Given the description of an element on the screen output the (x, y) to click on. 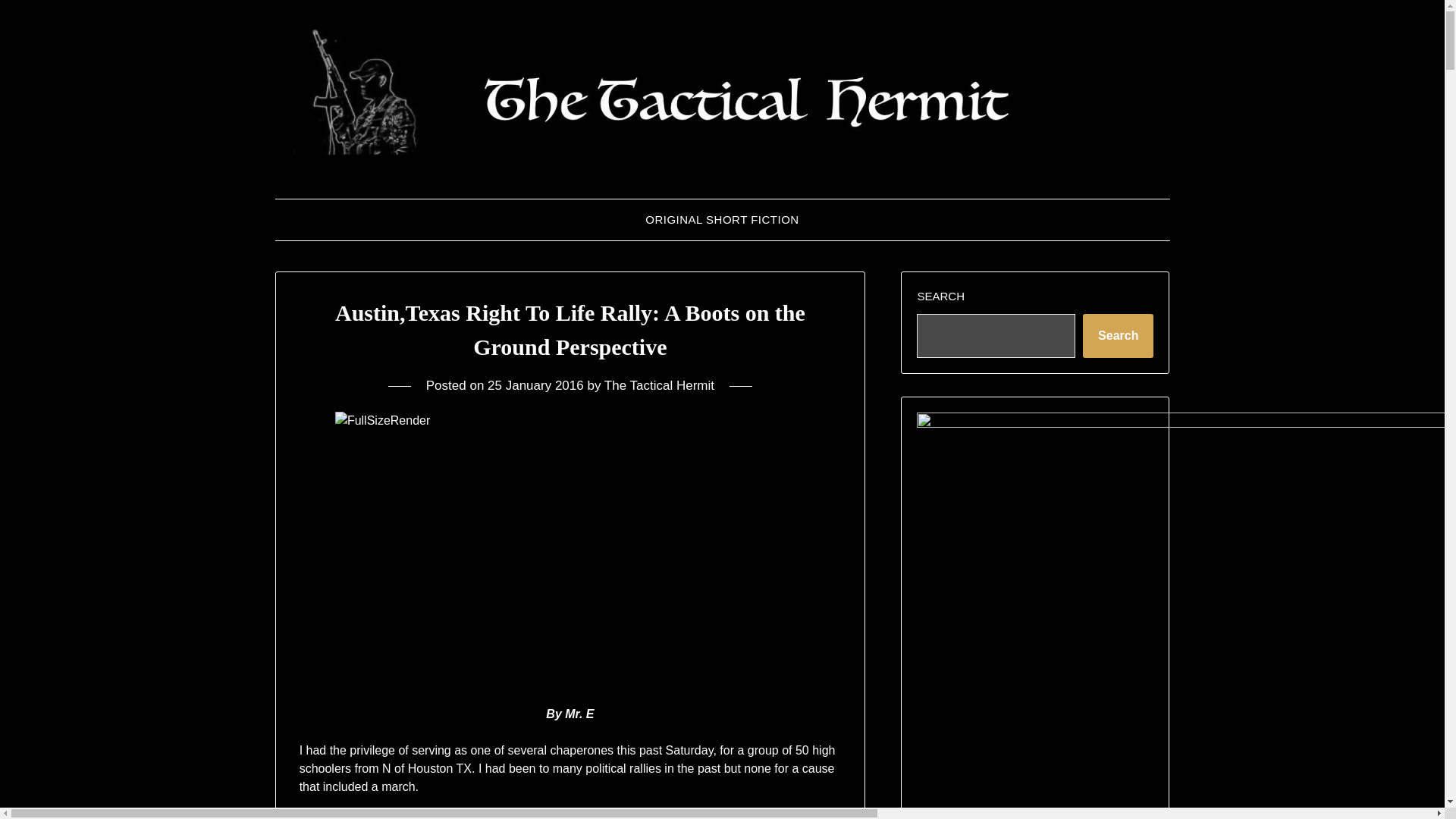
Search (1118, 335)
25 January 2016 (535, 385)
The Tactical Hermit (659, 385)
ORIGINAL SHORT FICTION (721, 219)
